Given the description of an element on the screen output the (x, y) to click on. 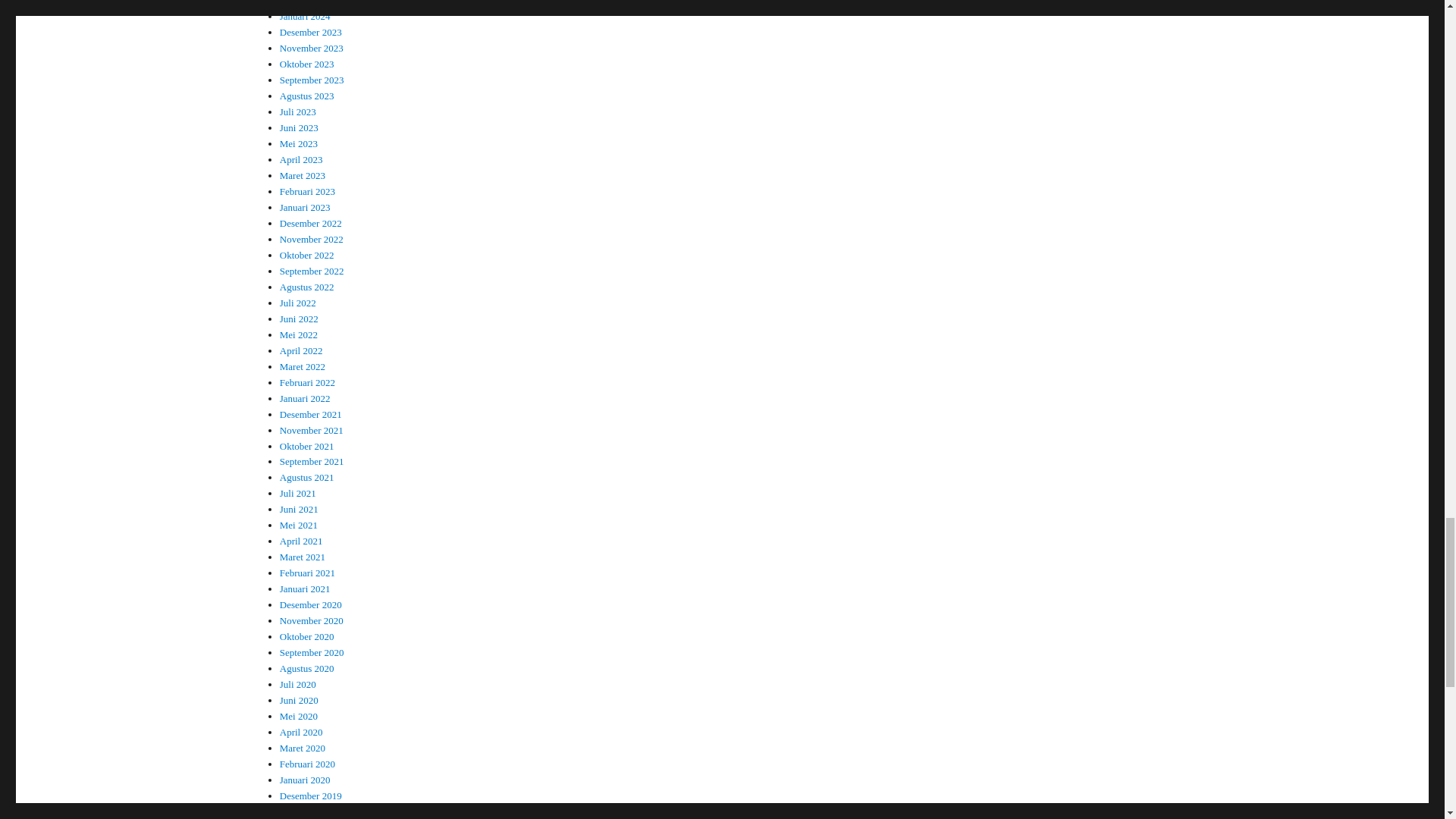
Maret 2023 (301, 174)
Februari 2023 (306, 191)
Mei 2023 (298, 143)
Juli 2023 (297, 111)
Oktober 2023 (306, 63)
April 2023 (301, 159)
November 2023 (311, 48)
Januari 2024 (304, 16)
Agustus 2023 (306, 95)
September 2023 (311, 79)
